Given the description of an element on the screen output the (x, y) to click on. 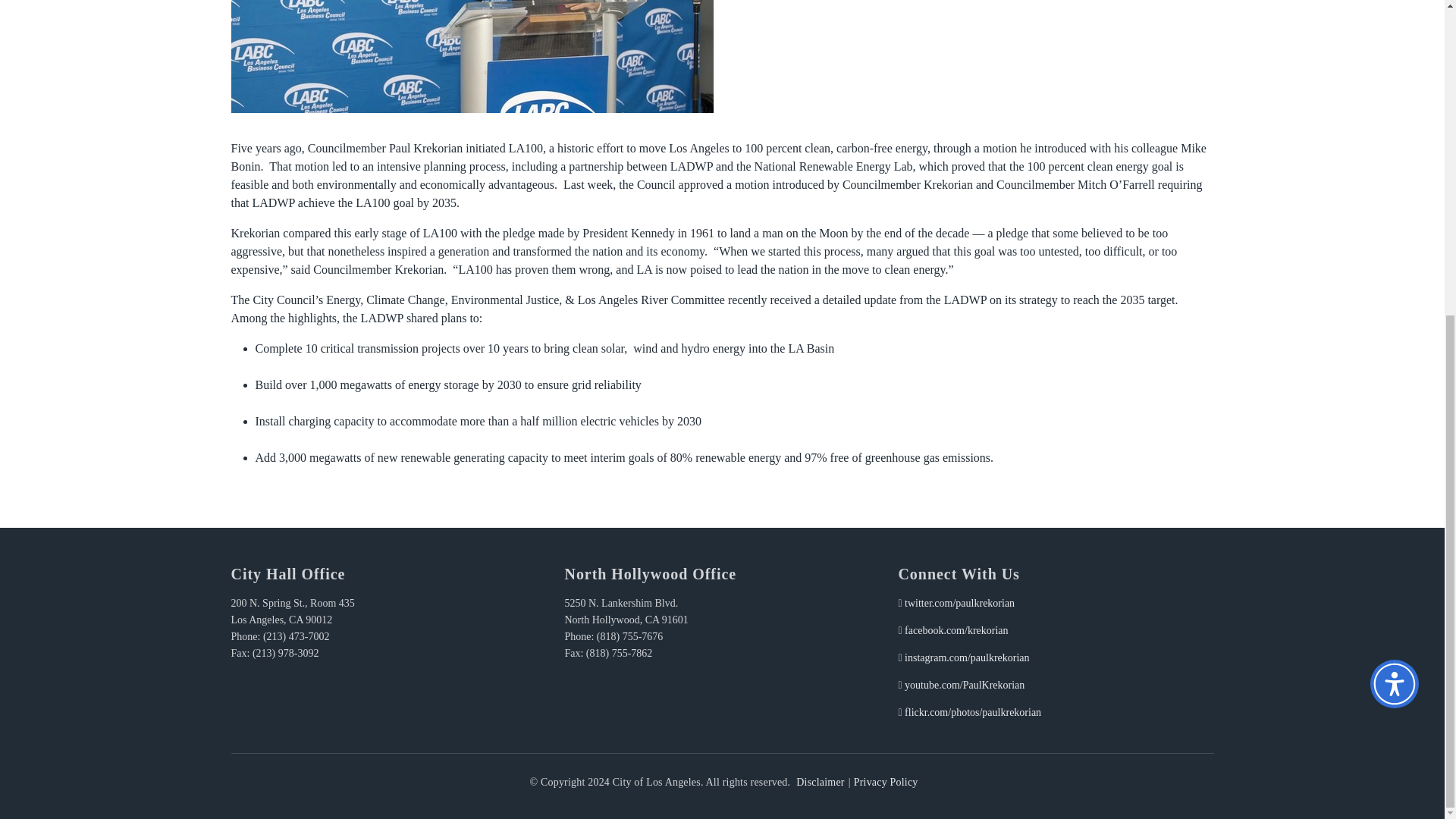
Accessibility Menu (1394, 178)
